Given the description of an element on the screen output the (x, y) to click on. 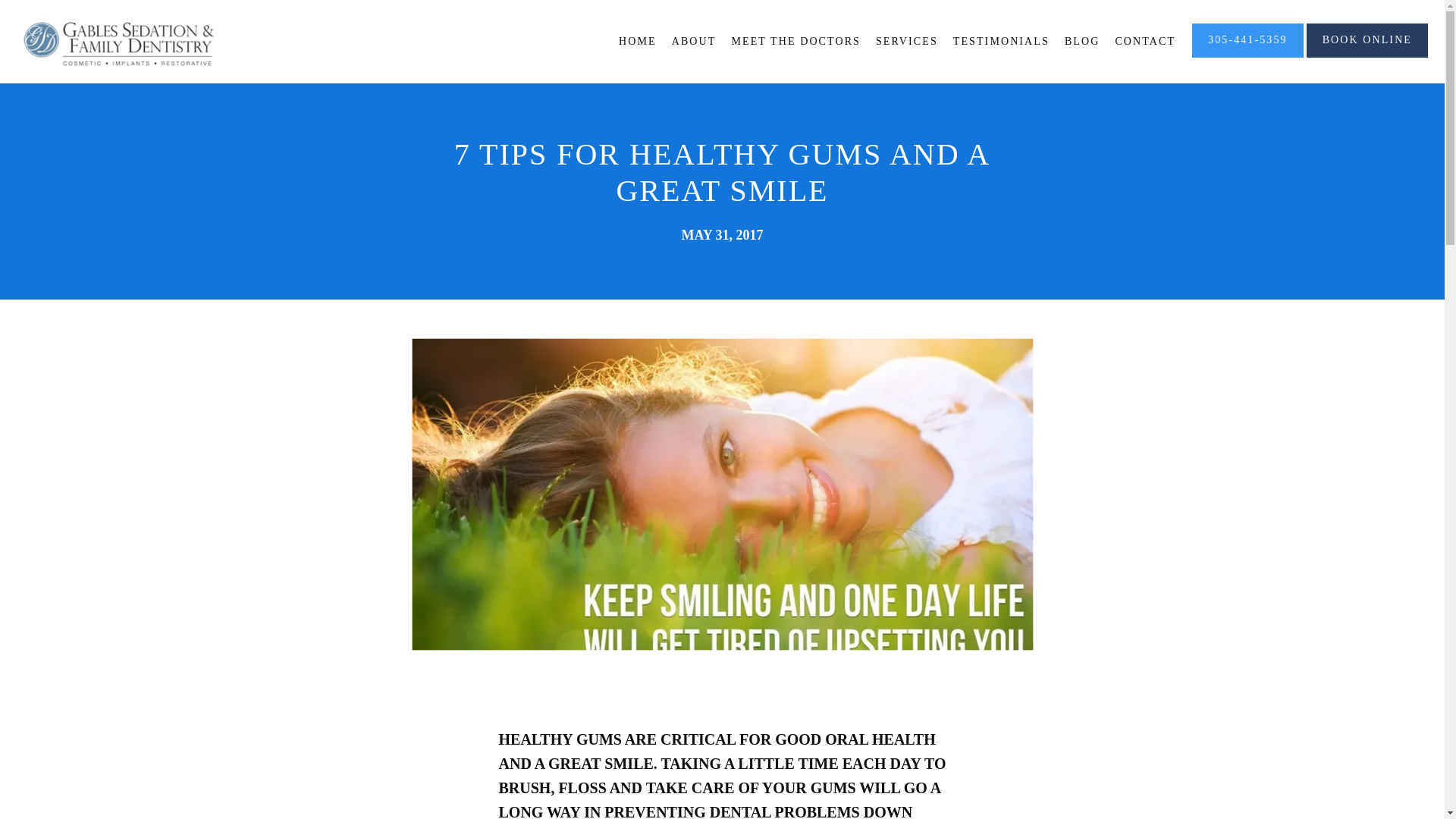
BLOG (1082, 41)
305-441-5359 (1247, 55)
HOME (637, 41)
BOOK ONLINE (1366, 55)
CONTACT (1144, 41)
SERVICES (906, 41)
TESTIMONIALS (1001, 41)
ABOUT (693, 41)
MEET THE DOCTORS (795, 41)
